Given the description of an element on the screen output the (x, y) to click on. 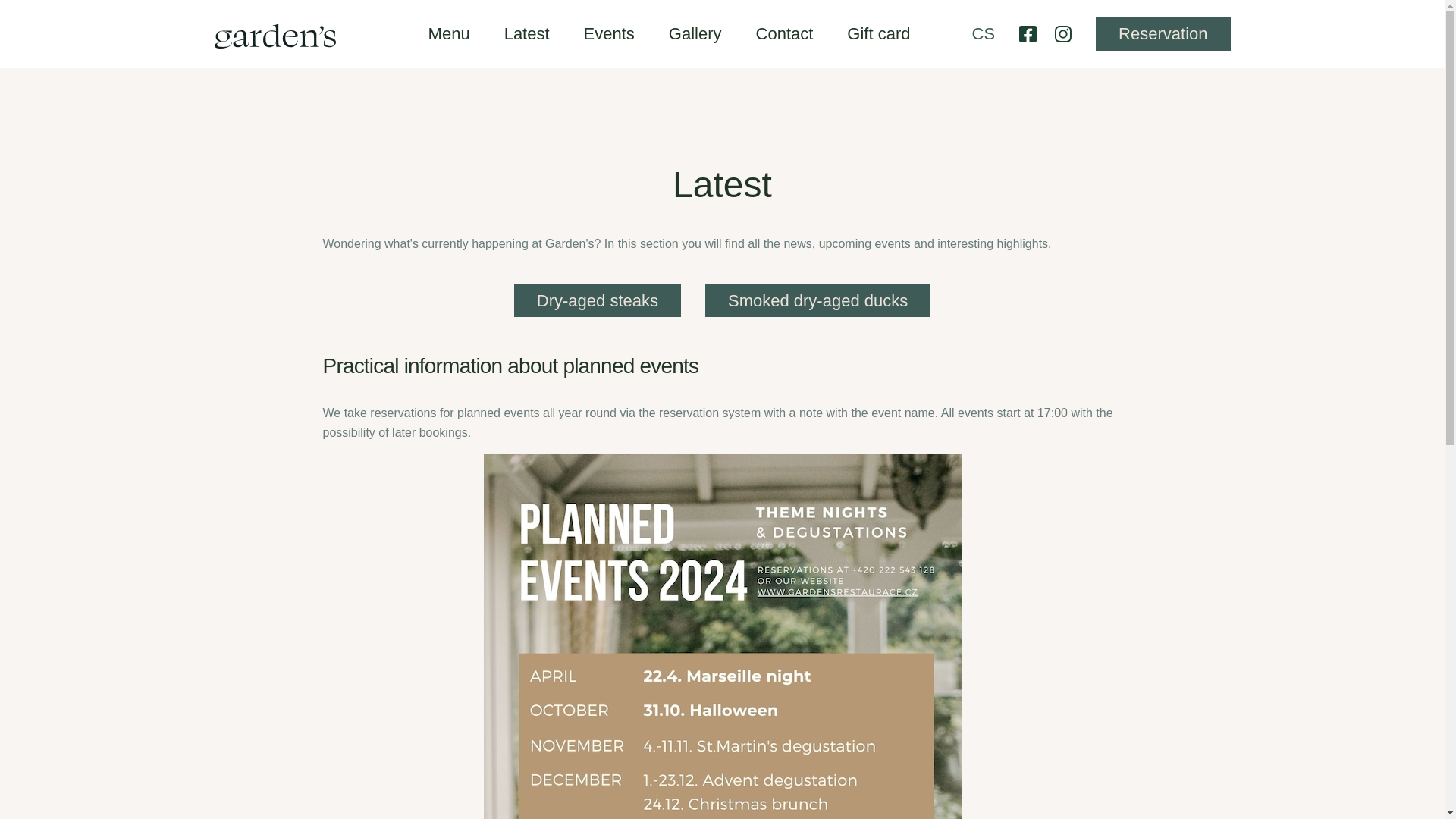
Gallery (695, 33)
Dry-aged steaks (597, 300)
Smoked dry-aged ducks (817, 300)
Menu (449, 33)
CS (983, 33)
Events (608, 33)
Gift card (878, 33)
Reservation (1163, 33)
Latest (526, 33)
Contact (784, 33)
